Given the description of an element on the screen output the (x, y) to click on. 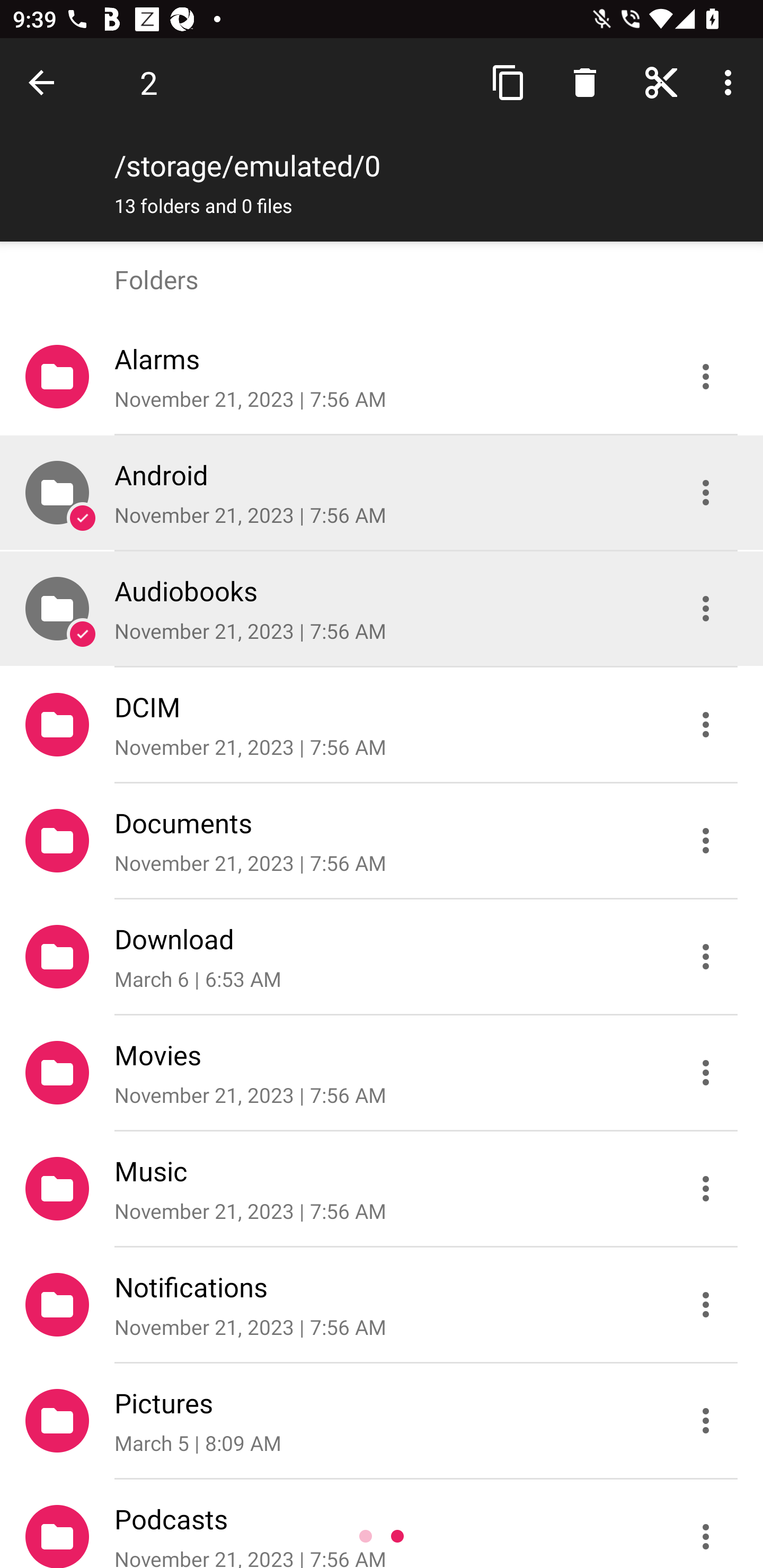
2 (148, 82)
Done (44, 81)
Copy (508, 81)
Search (585, 81)
Home (661, 81)
More options (731, 81)
Alarms November 21, 2023 | 7:56 AM (381, 376)
Android November 21, 2023 | 7:56 AM (381, 492)
Audiobooks November 21, 2023 | 7:56 AM (381, 608)
DCIM November 21, 2023 | 7:56 AM (381, 724)
Documents November 21, 2023 | 7:56 AM (381, 841)
Download March 6 | 6:53 AM (381, 957)
Movies November 21, 2023 | 7:56 AM (381, 1073)
Music November 21, 2023 | 7:56 AM (381, 1189)
Notifications November 21, 2023 | 7:56 AM (381, 1305)
Pictures March 5 | 8:09 AM (381, 1421)
Podcasts November 21, 2023 | 7:56 AM (381, 1524)
